Given the description of an element on the screen output the (x, y) to click on. 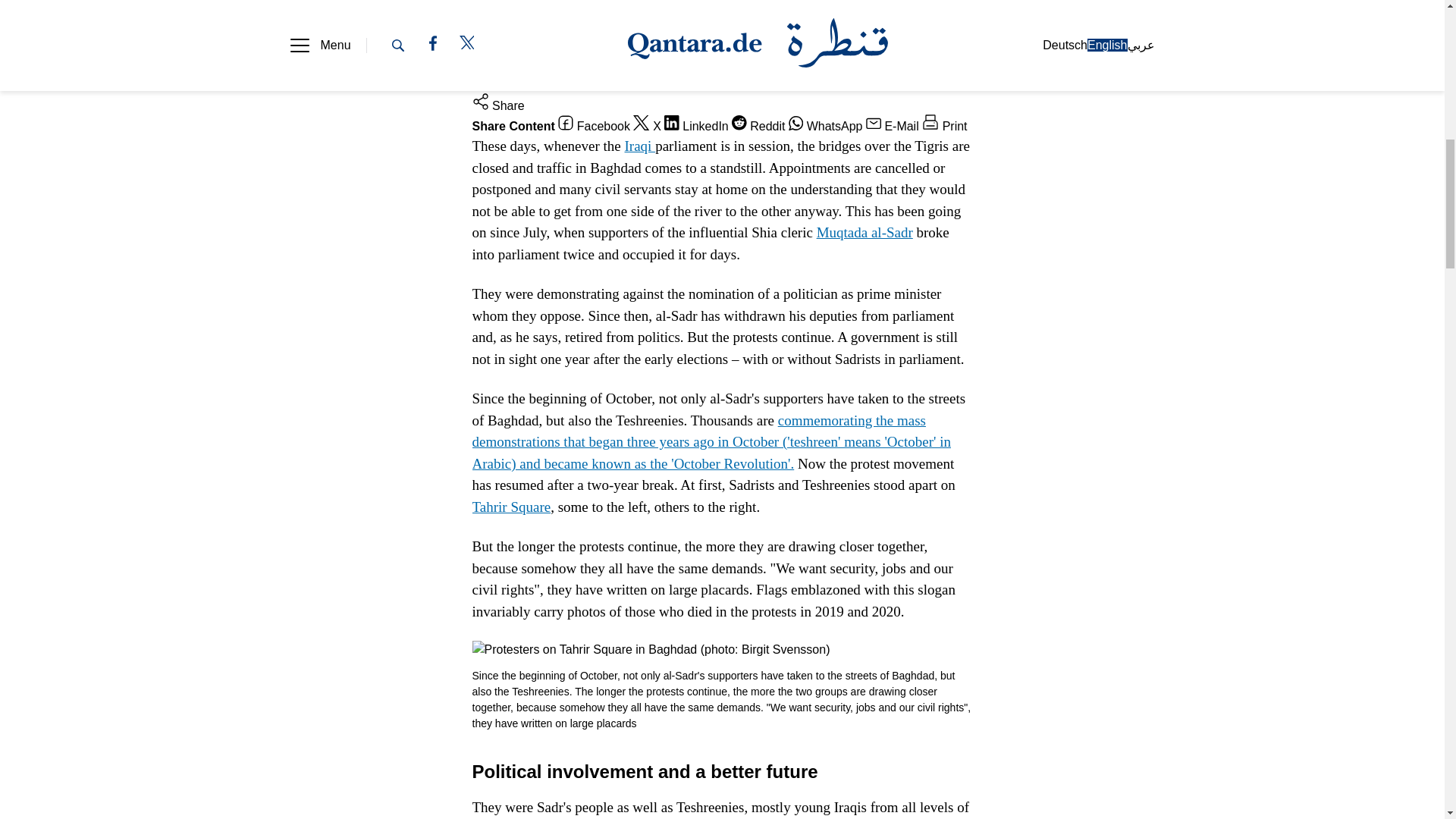
Link copied successfully (560, 83)
WhatsApp (826, 125)
Iraqi (640, 145)
Print (943, 125)
Copy link of content (675, 83)
E-Mail (892, 125)
Link (675, 83)
Facebook (593, 125)
Muqtada al-Sadr (864, 232)
Birgit Svensson (531, 61)
